Given the description of an element on the screen output the (x, y) to click on. 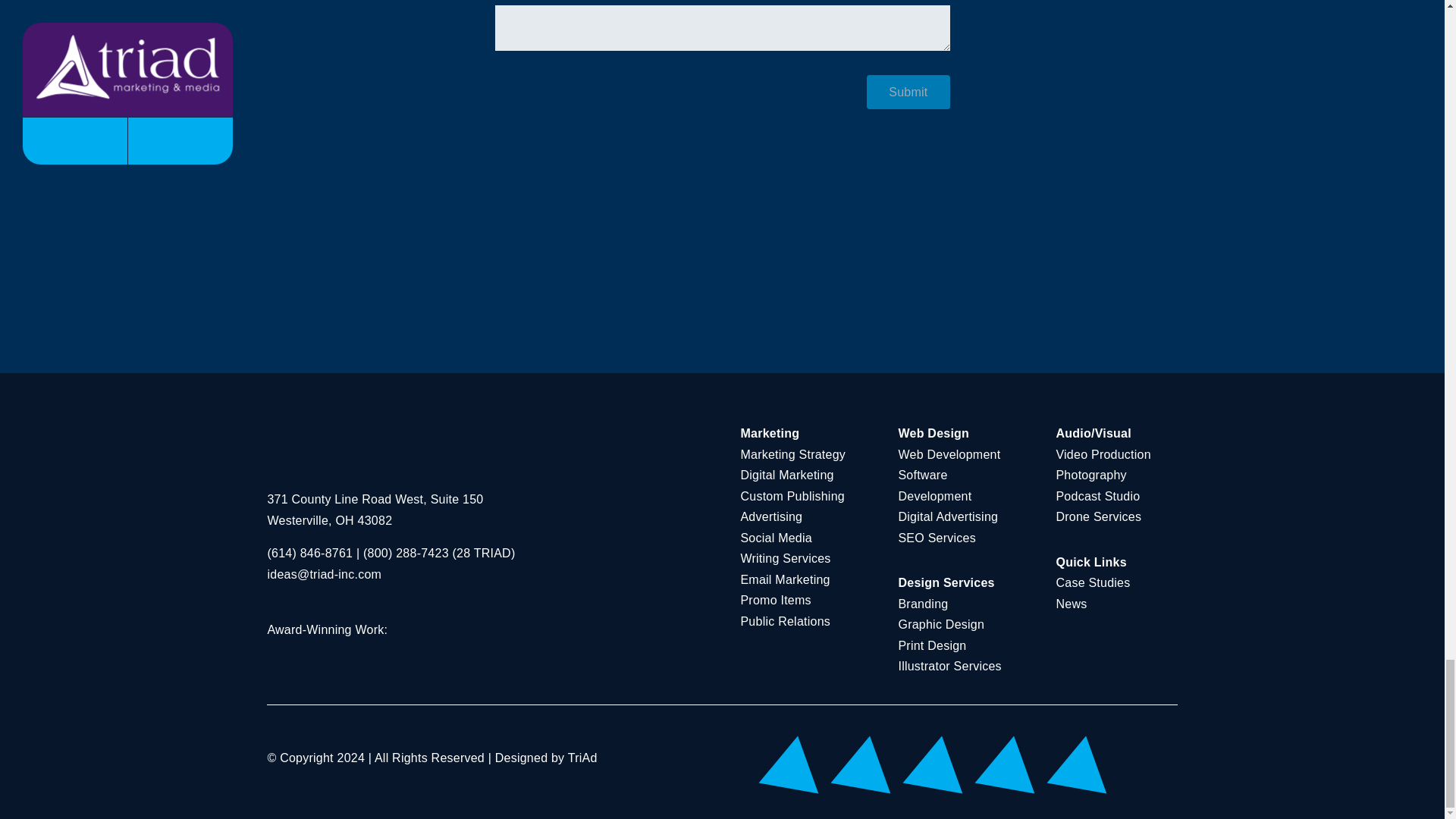
Promo Items (774, 599)
Marketing Strategy (792, 454)
Submit (907, 91)
Submit (907, 91)
Advertising (770, 516)
Digital Marketing (785, 474)
Writing Services (784, 558)
Custom Publishing (791, 495)
Social Media (774, 537)
Email Marketing (784, 579)
